Given the description of an element on the screen output the (x, y) to click on. 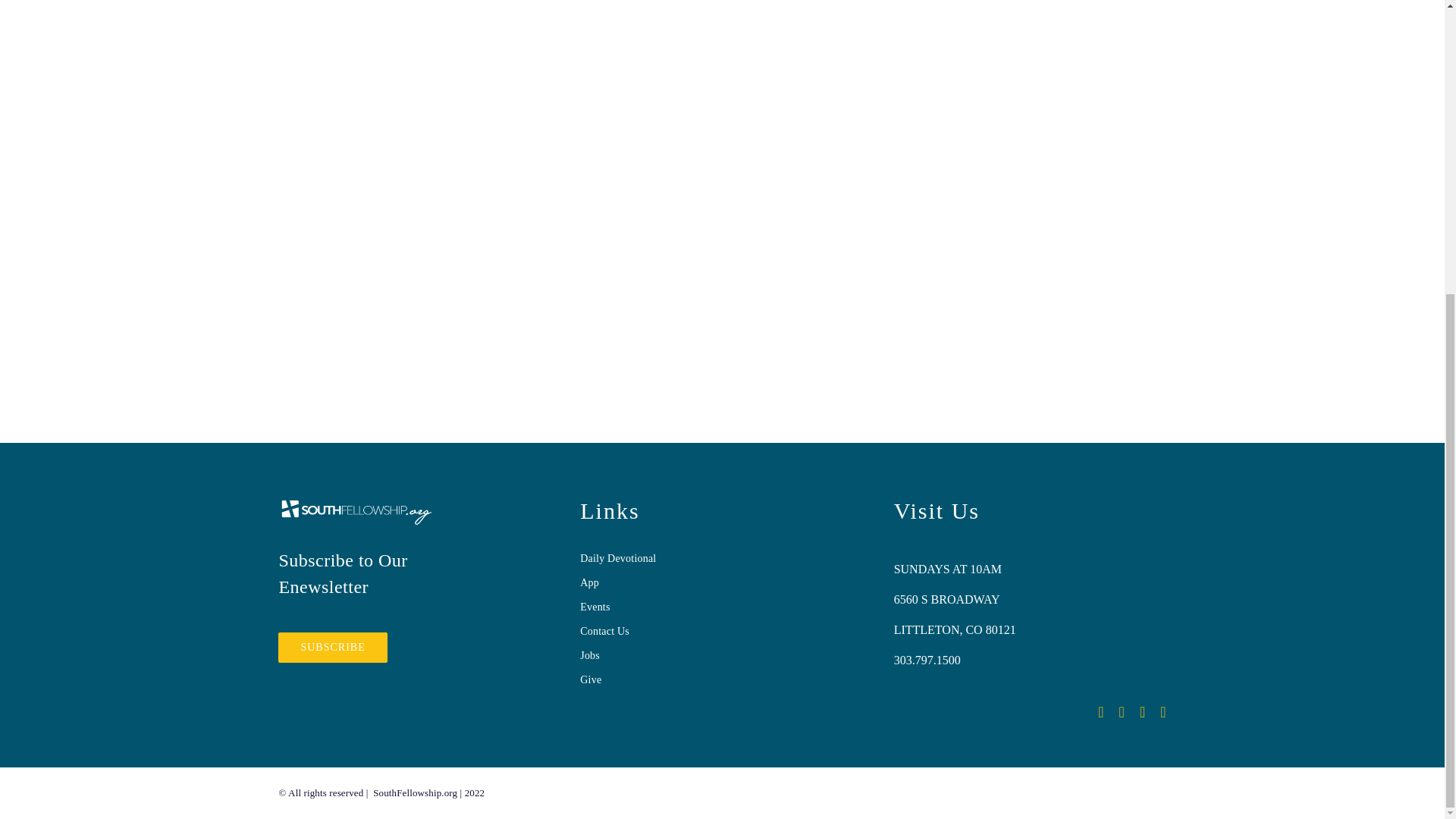
Logo Master-06 (355, 512)
